Given the description of an element on the screen output the (x, y) to click on. 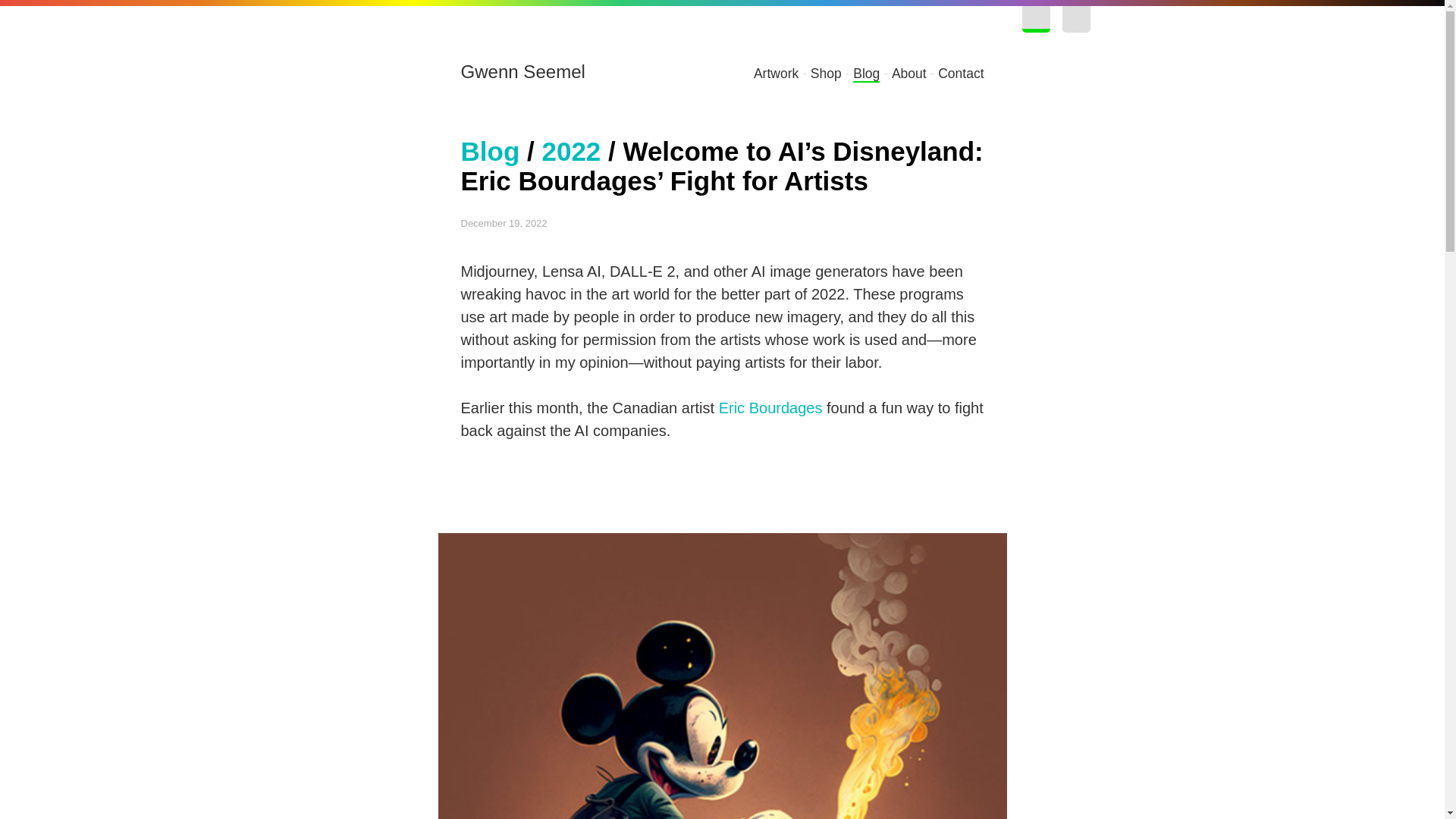
Gwenn Seemel (523, 71)
Blog (490, 151)
2022 (570, 151)
